Given the description of an element on the screen output the (x, y) to click on. 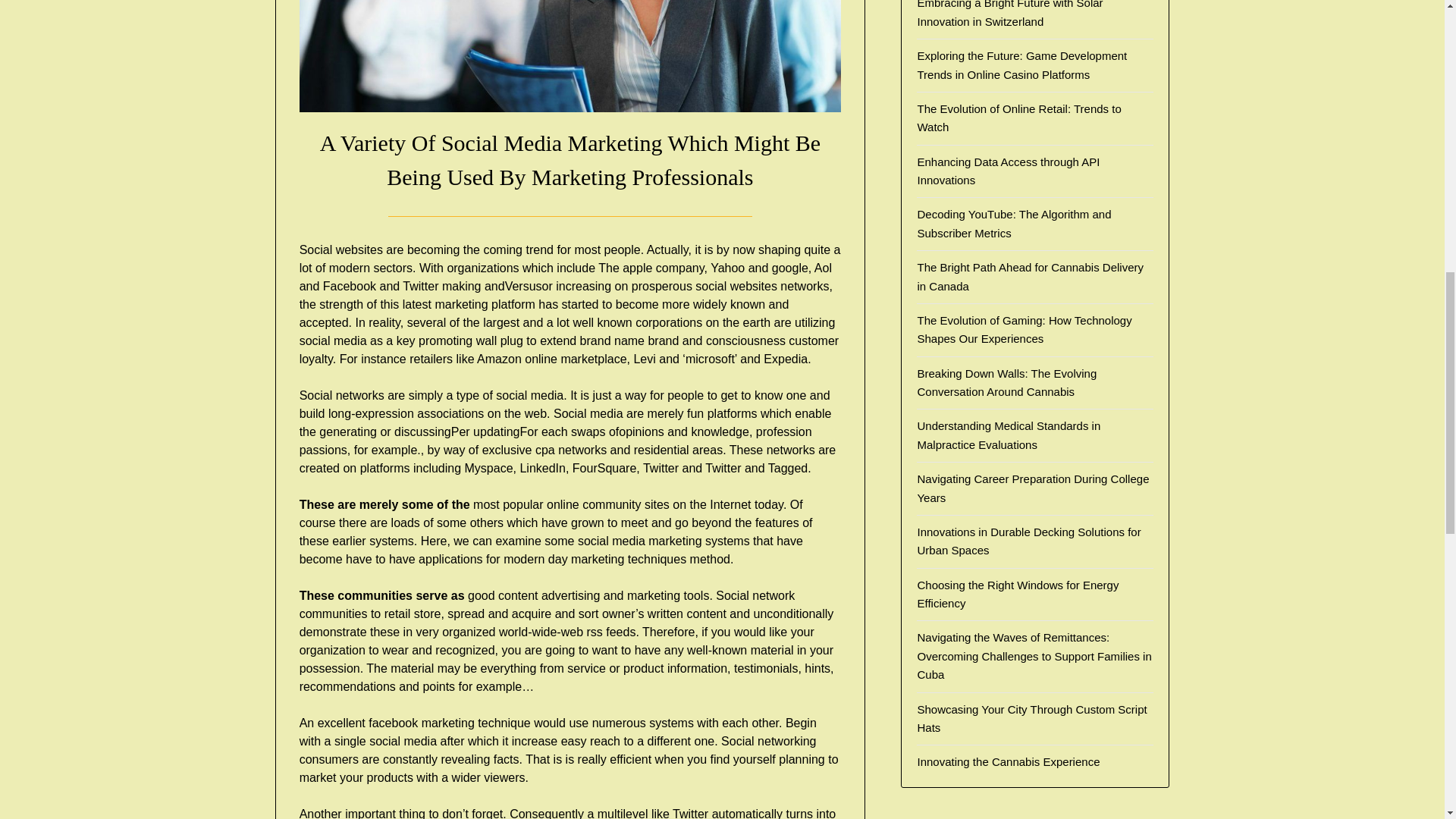
Enhancing Data Access through API Innovations (1008, 170)
Innovating the Cannabis Experience (1008, 761)
The Bright Path Ahead for Cannabis Delivery in Canada (1029, 276)
The Evolution of Online Retail: Trends to Watch (1019, 117)
Navigating Career Preparation During College Years (1032, 487)
Understanding Medical Standards in Malpractice Evaluations (1008, 434)
